Given the description of an element on the screen output the (x, y) to click on. 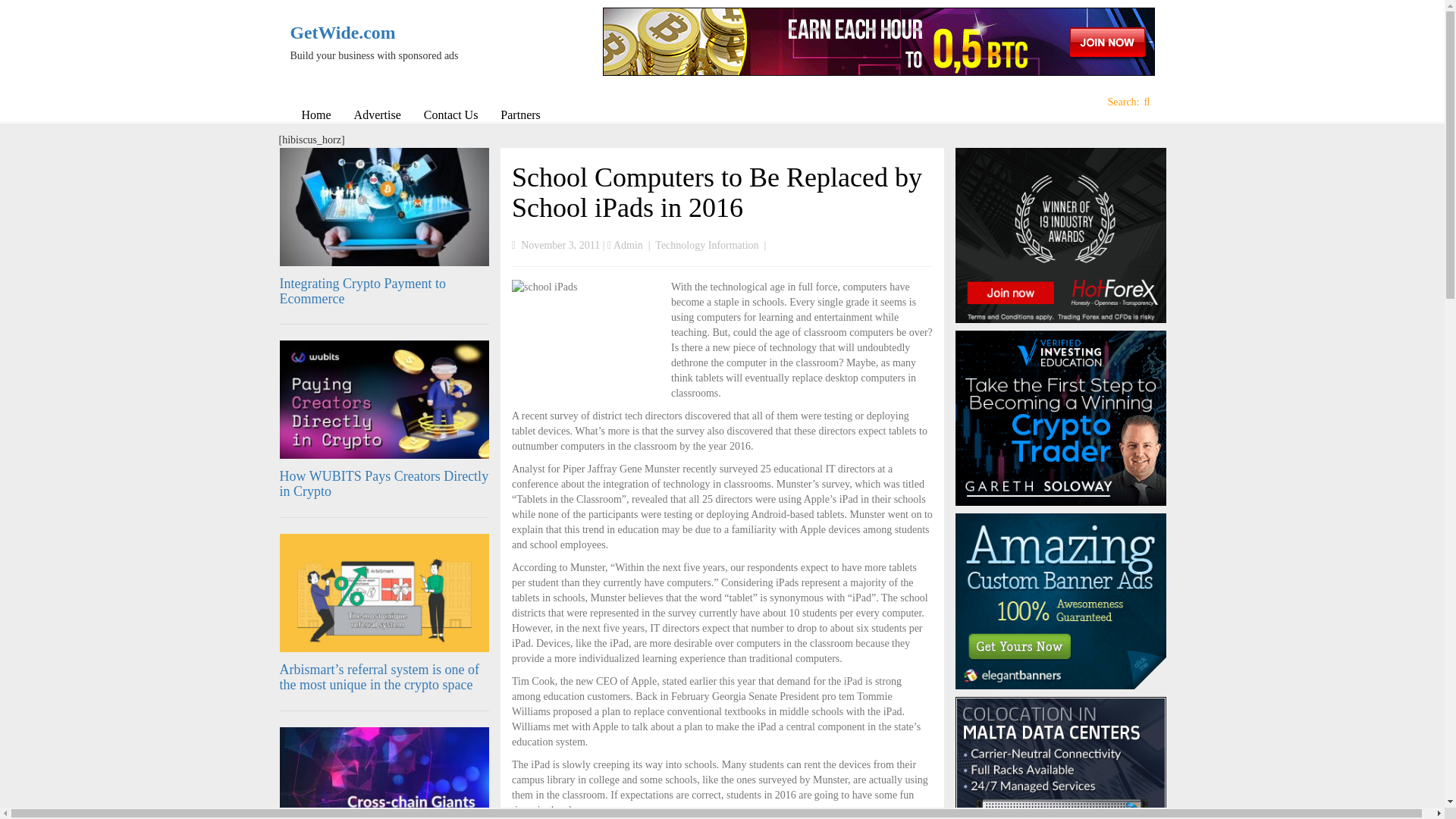
School Computers to Be Replaced by School iPads in 2016 (716, 192)
How WUBITS Pays Creators Directly in Crypto (383, 483)
Admin (627, 244)
Integrating Crypto Payment to Ecommerce (362, 291)
Posts by Admin (627, 244)
Partners (520, 115)
Advertise (377, 115)
Contact Us (450, 115)
Home (315, 115)
GetWide.com (389, 32)
